Given the description of an element on the screen output the (x, y) to click on. 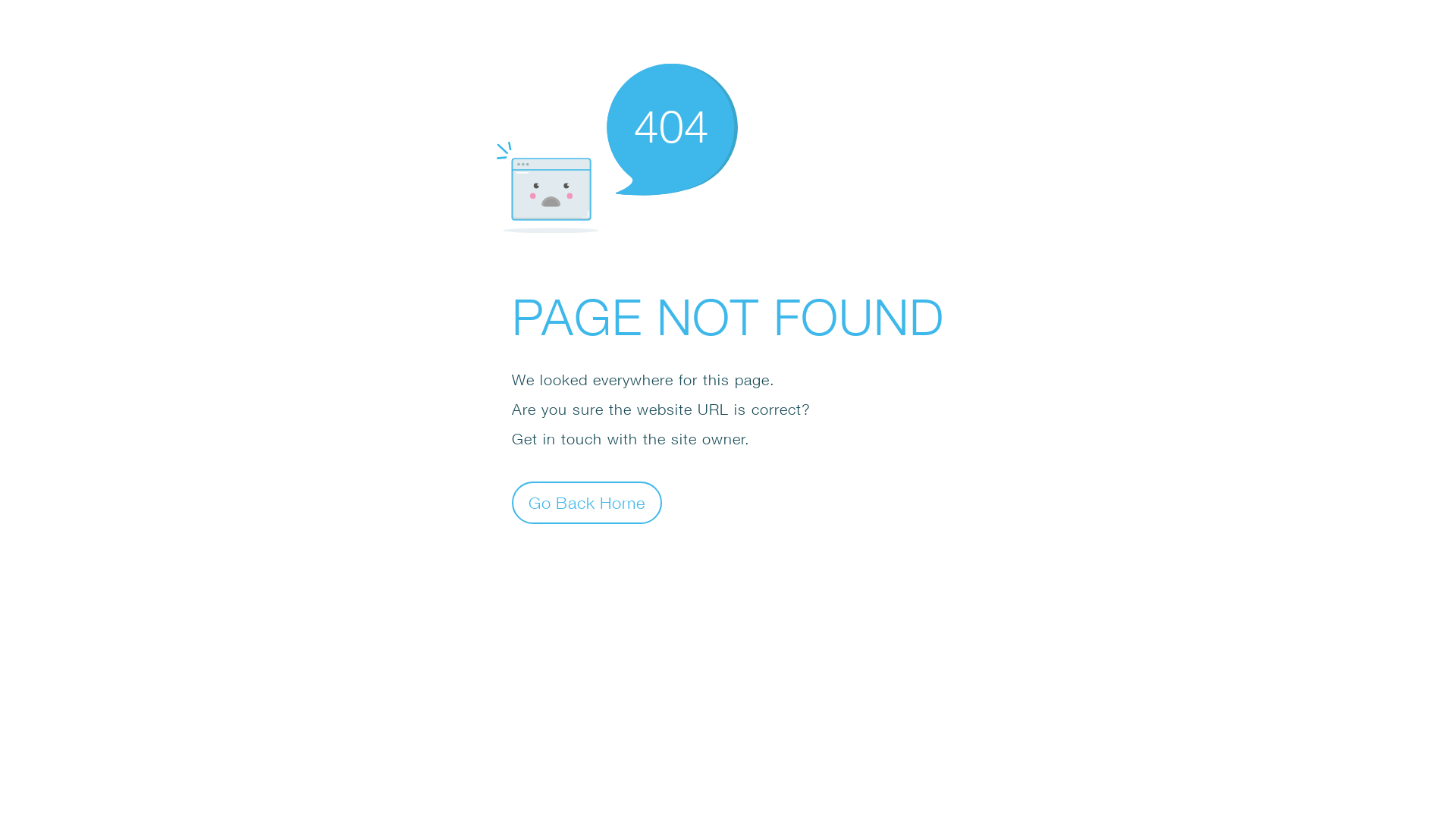
Go Back Home Element type: text (586, 502)
